Given the description of an element on the screen output the (x, y) to click on. 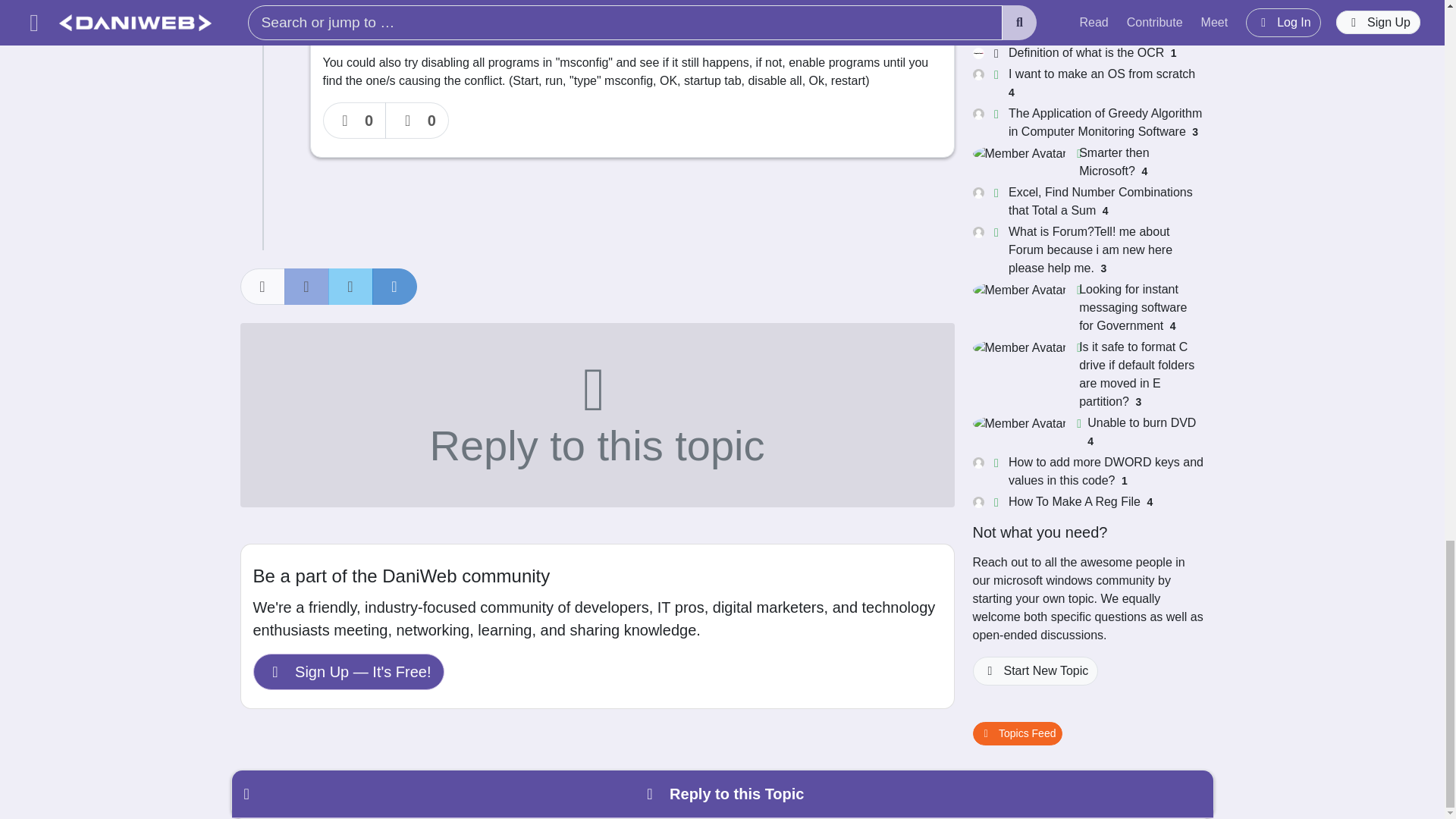
0 (416, 120)
0 (355, 120)
